Given the description of an element on the screen output the (x, y) to click on. 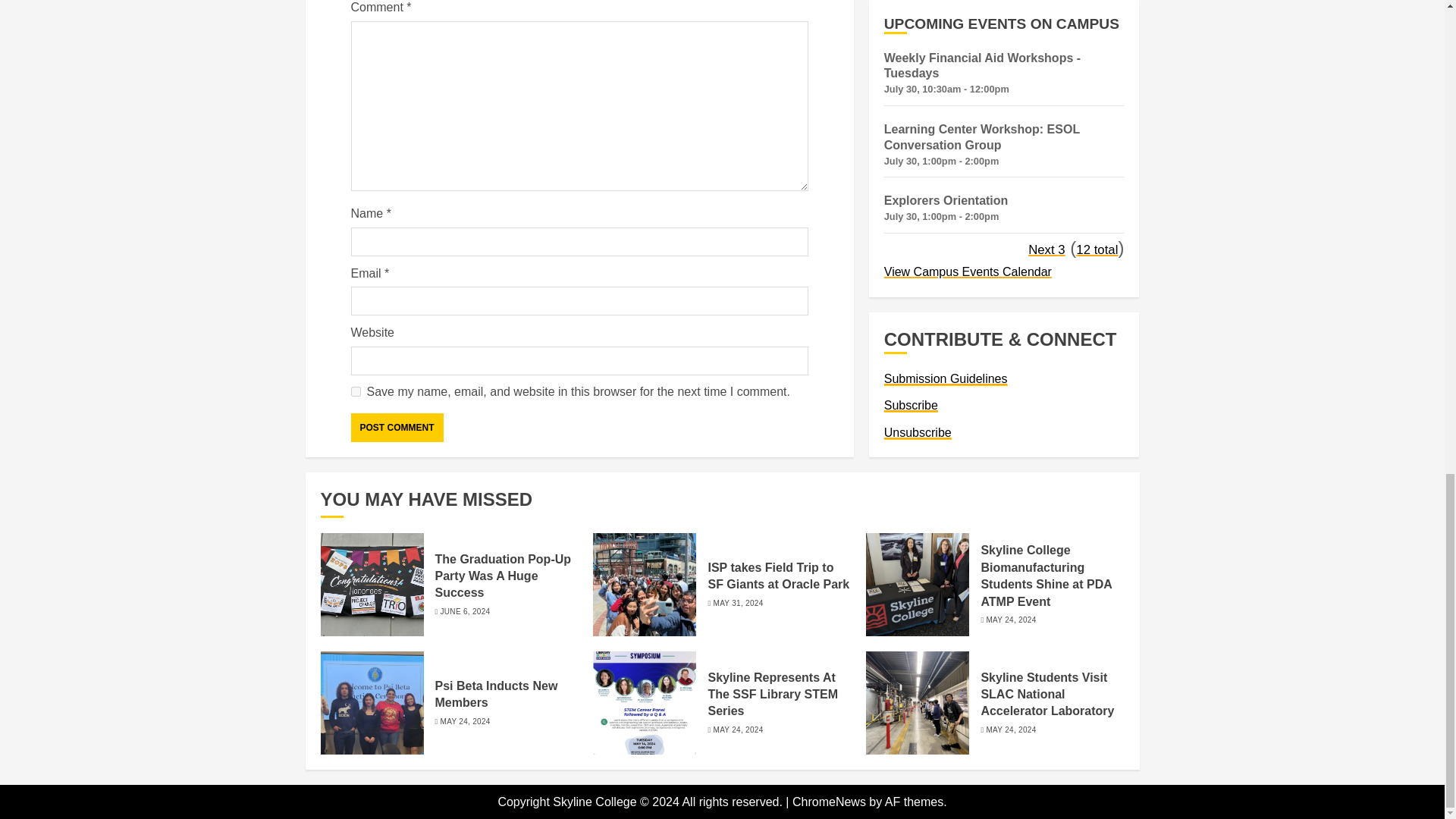
MAY 24, 2024 (1010, 620)
The Graduation Pop-Up Party Was A Huge Success (503, 576)
JUNE 6, 2024 (465, 611)
Post Comment (396, 427)
Post Comment (396, 427)
ISP takes Field Trip to SF Giants at Oracle Park (777, 576)
MAY 31, 2024 (737, 603)
yes (354, 391)
